Given the description of an element on the screen output the (x, y) to click on. 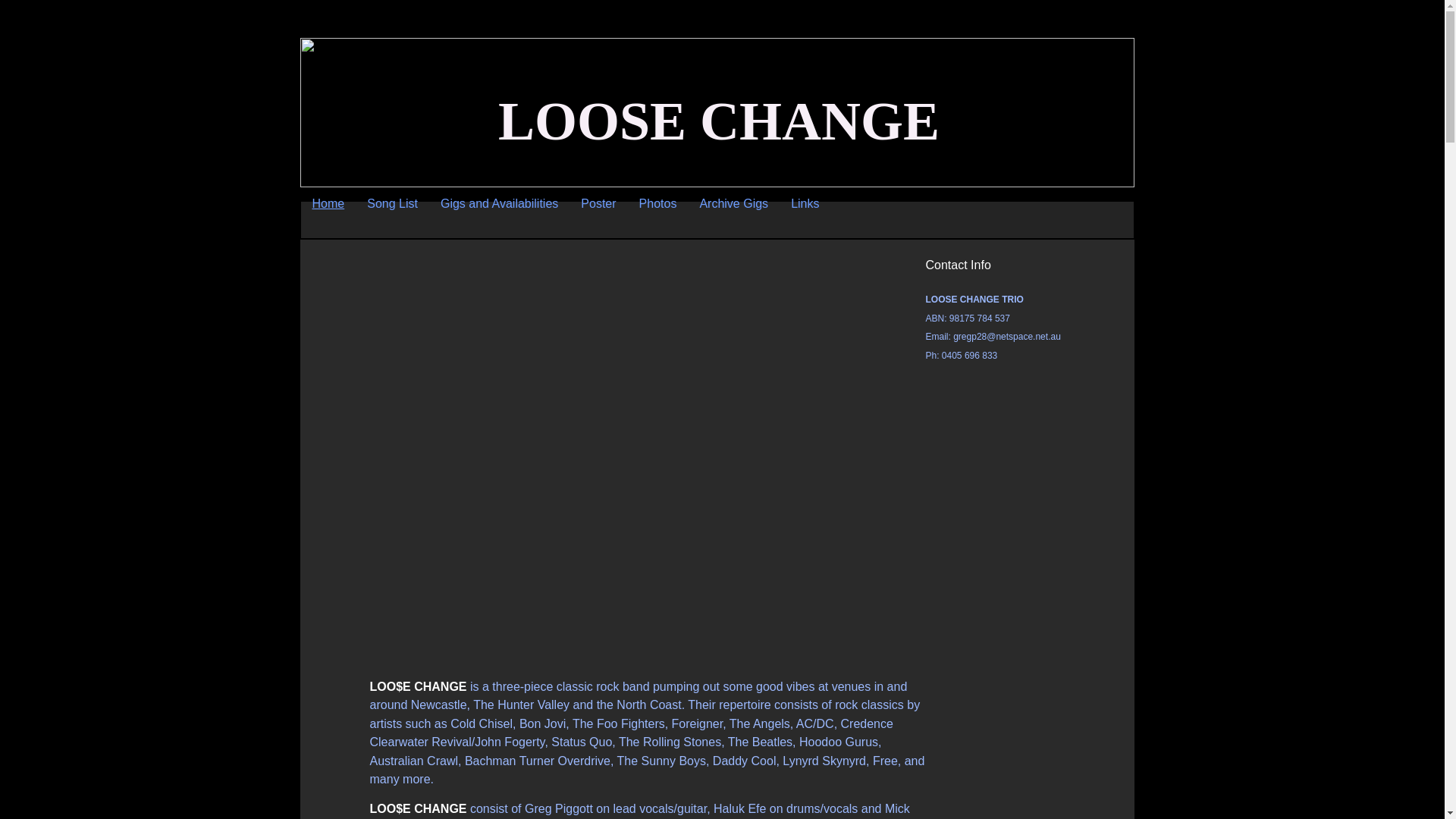
Links Element type: text (804, 203)
Archive Gigs Element type: text (733, 203)
Photos Element type: text (657, 203)
Poster Element type: text (598, 203)
gregp28@netspace.net.au Element type: text (1006, 336)
Song List Element type: text (392, 203)
Home Element type: text (327, 203)
Gigs and Availabilities Element type: text (499, 203)
